Given the description of an element on the screen output the (x, y) to click on. 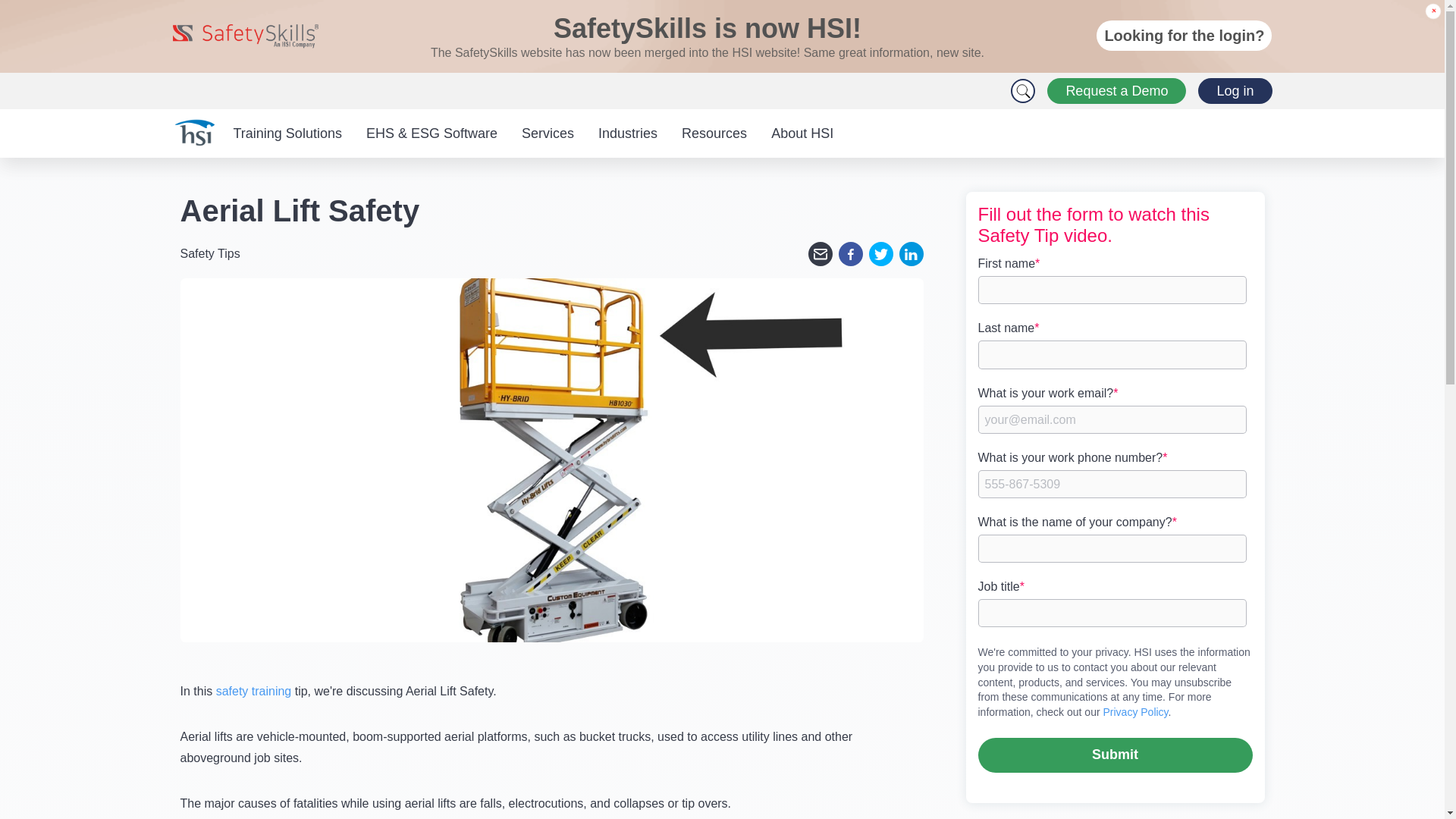
Log in (1234, 90)
Looking for the login? (1183, 35)
Training Solutions (287, 133)
Submit (1115, 755)
Request a Demo (1116, 90)
